Given the description of an element on the screen output the (x, y) to click on. 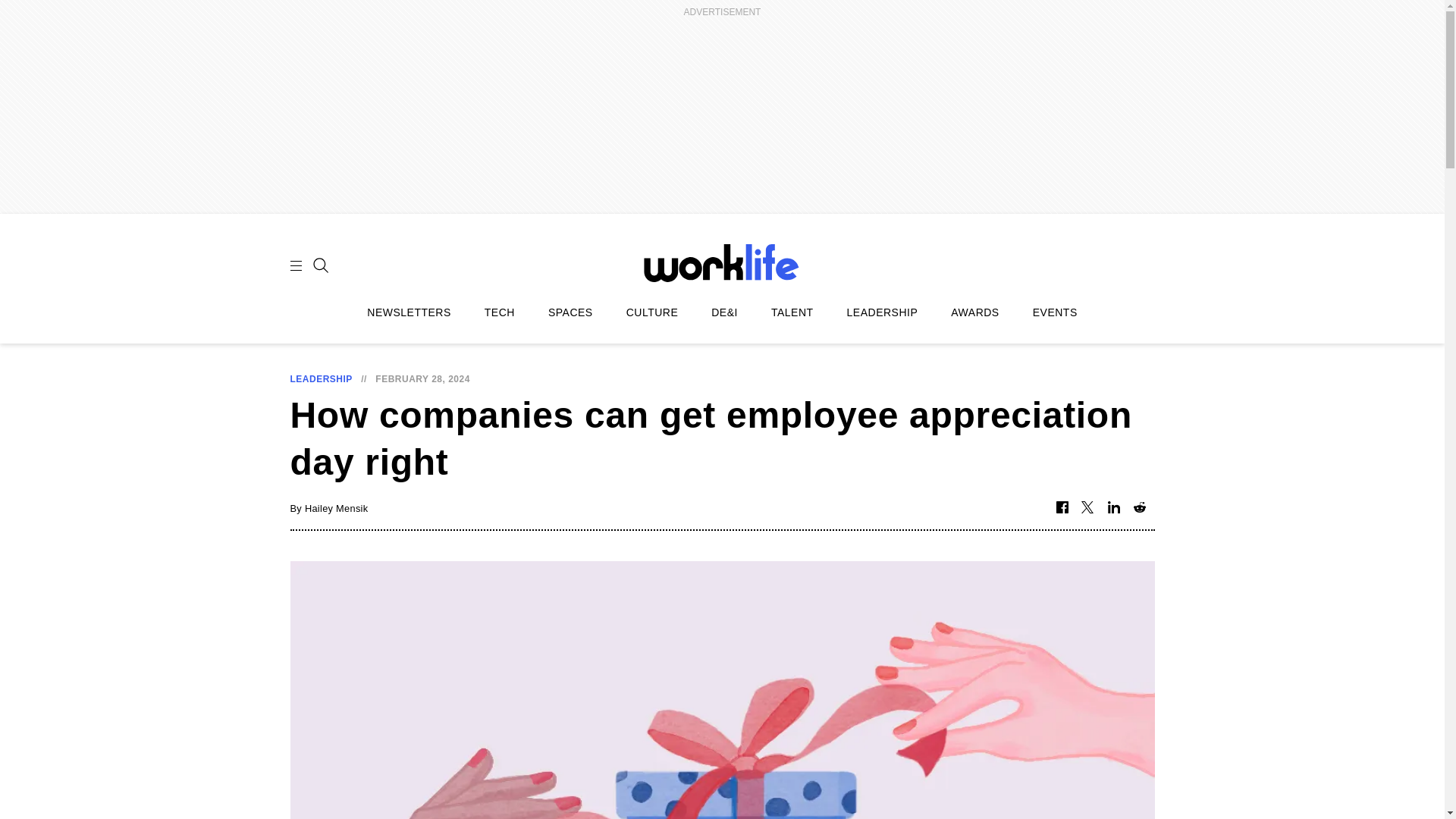
AWARDS (974, 312)
TALENT (792, 312)
Share on Facebook (1061, 508)
Share on LinkedIn (1113, 508)
NEWSLETTERS (408, 312)
Share on Reddit (1139, 508)
LEADERSHIP (882, 312)
WorkLife home (722, 262)
LEADERSHIP (320, 378)
